Given the description of an element on the screen output the (x, y) to click on. 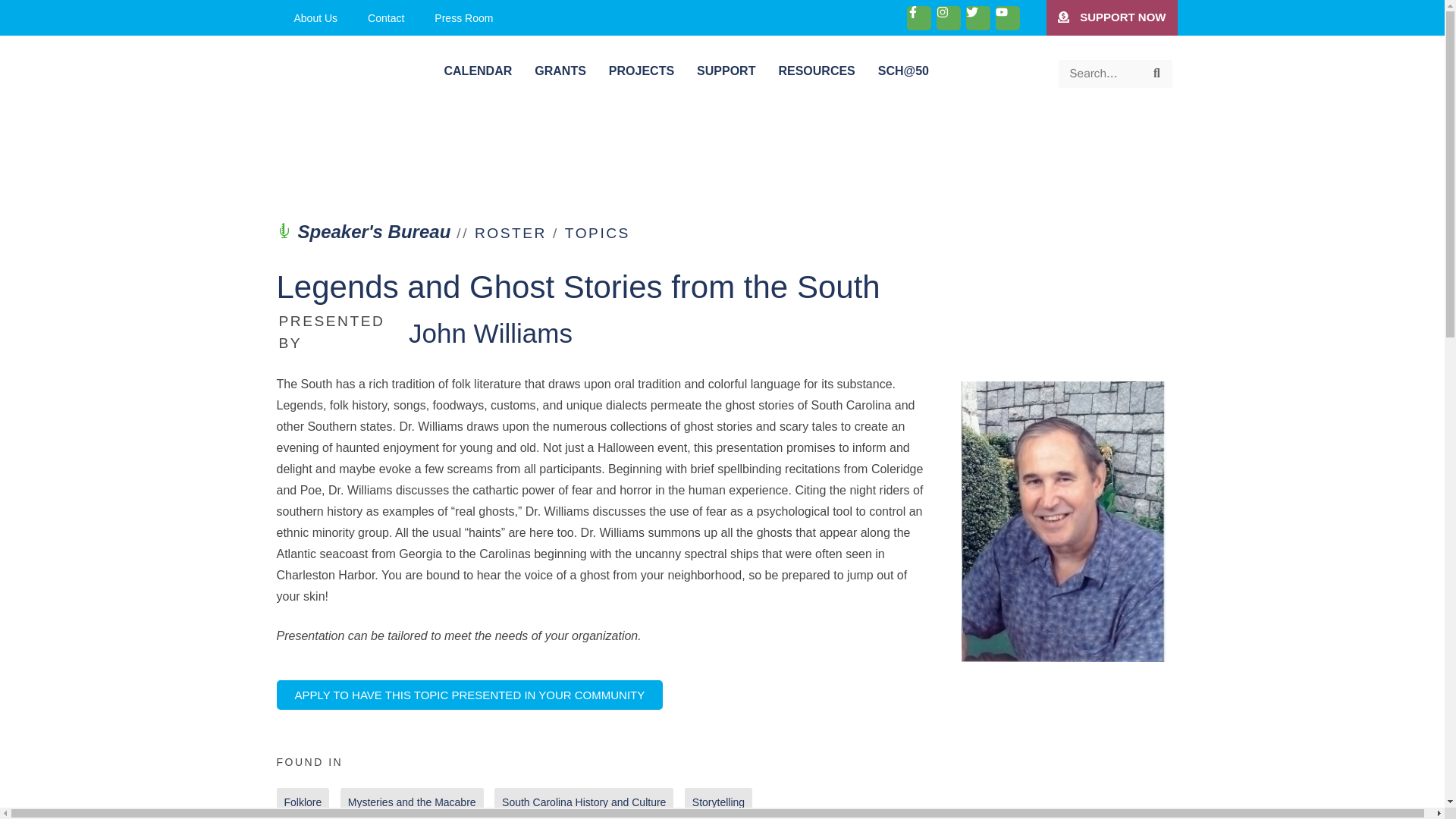
SUPPORT NOW (1111, 18)
GRANTS (559, 71)
CALENDAR (477, 71)
Press Room (463, 16)
About Us (316, 16)
Contact (385, 16)
